Given the description of an element on the screen output the (x, y) to click on. 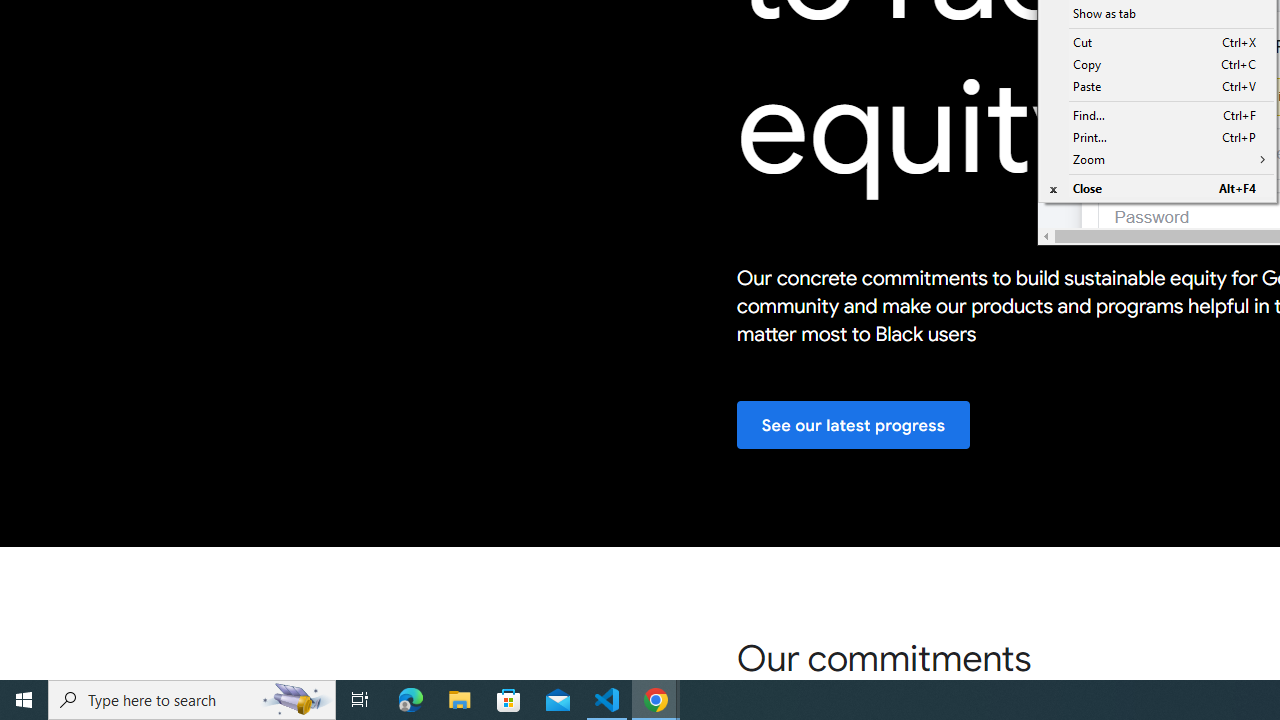
Visual Studio Code - 1 running window (607, 699)
Search highlights icon opens search home window (295, 699)
Show as tab (1156, 13)
